Given the description of an element on the screen output the (x, y) to click on. 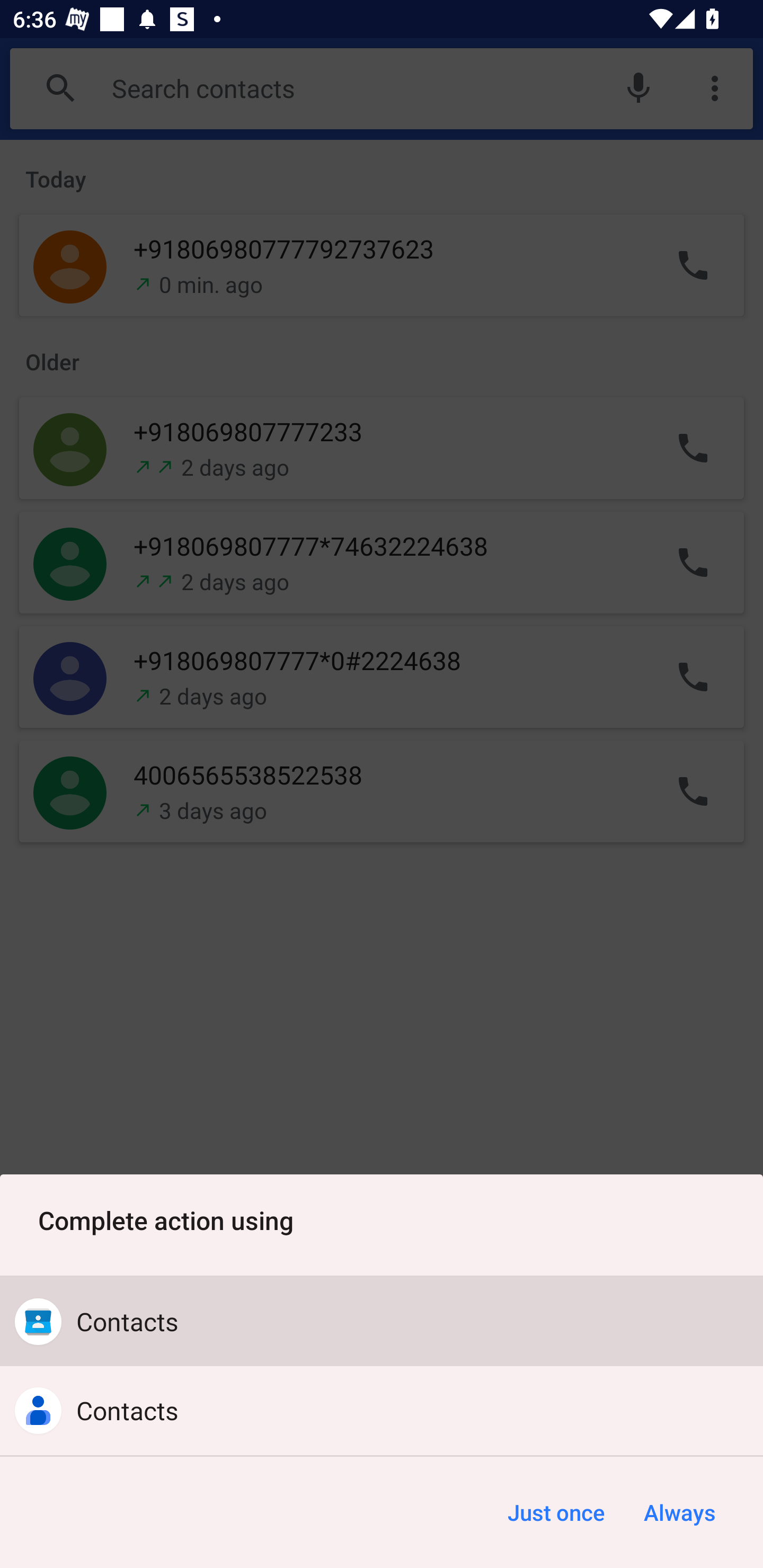
Contacts (381, 1321)
Contacts (381, 1410)
Just once (556, 1512)
Always (679, 1512)
